Given the description of an element on the screen output the (x, y) to click on. 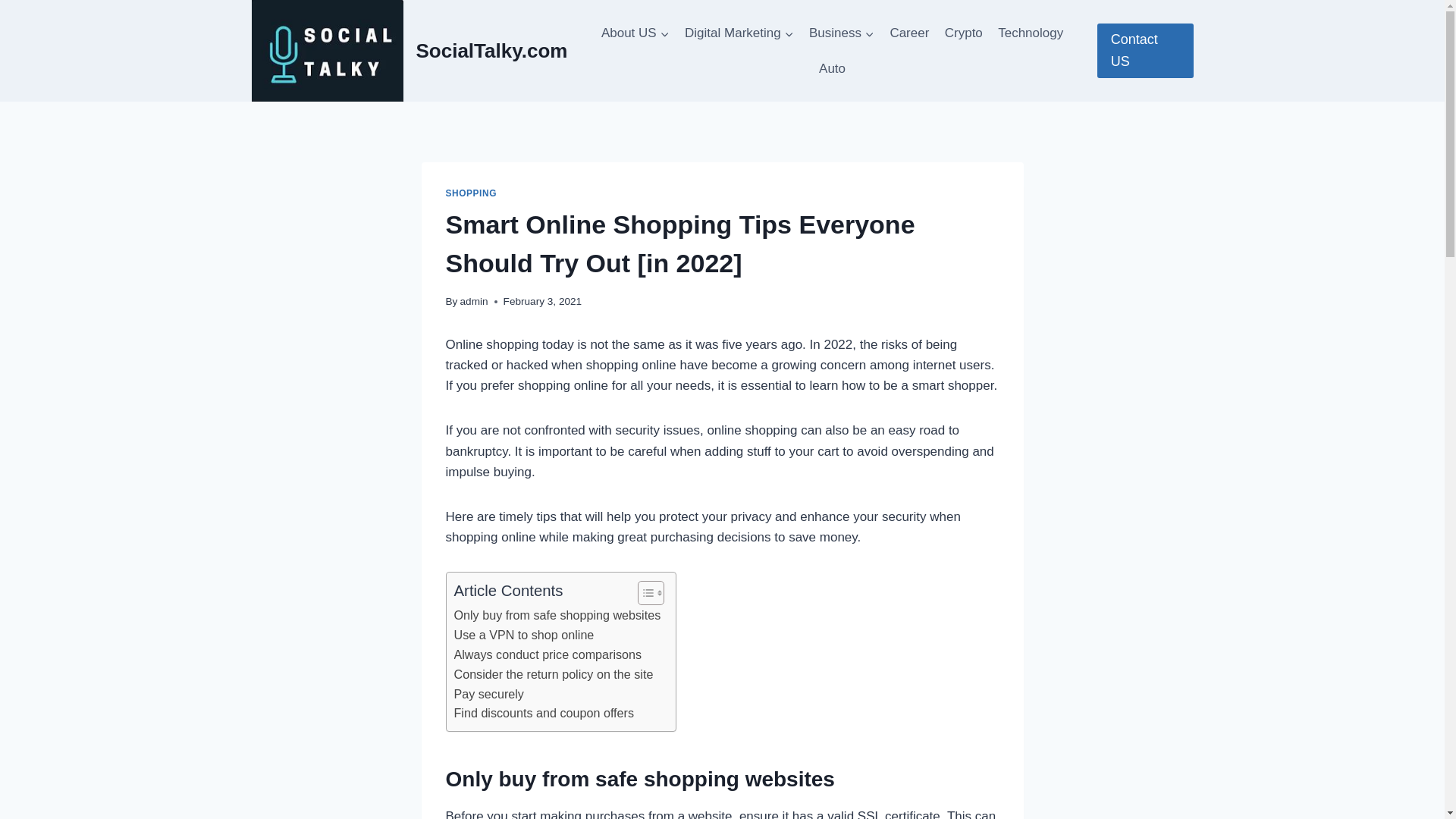
Consider the return policy on the site (552, 674)
Career (909, 33)
Only buy from safe shopping websites (556, 615)
Business (842, 33)
SocialTalky.com (409, 50)
Digital Marketing (739, 33)
Contact US (1145, 50)
Use a VPN to shop online (523, 635)
Crypto (963, 33)
Auto (831, 68)
